Given the description of an element on the screen output the (x, y) to click on. 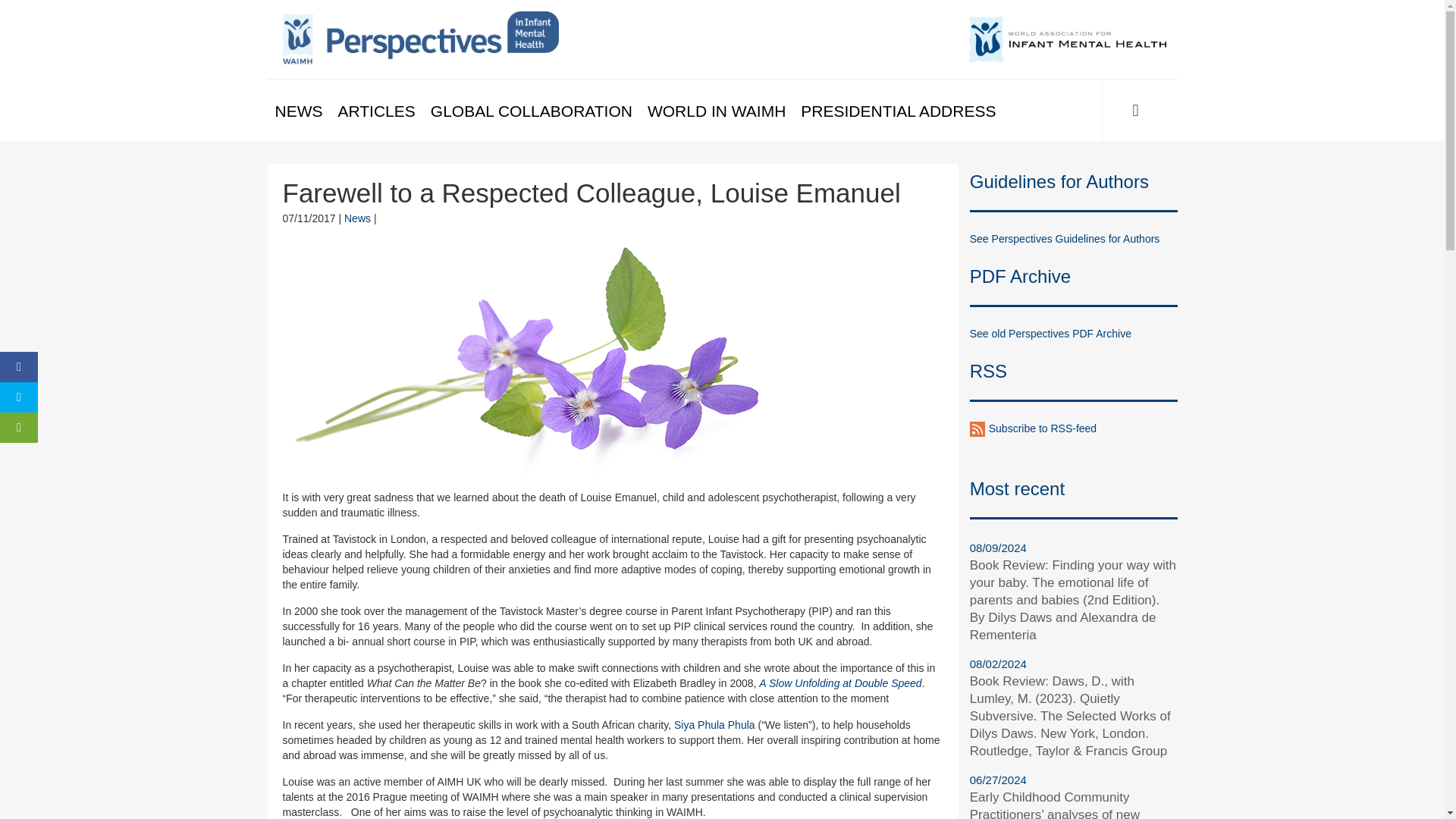
Siya Phula Phula (714, 725)
PRESIDENTIAL ADDRESS (898, 111)
A Slow Unfolding at Double Speed (839, 683)
NEWS (298, 111)
ARTICLES (376, 111)
News (357, 218)
WORLD IN WAIMH (716, 111)
GLOBAL COLLABORATION (531, 111)
